Given the description of an element on the screen output the (x, y) to click on. 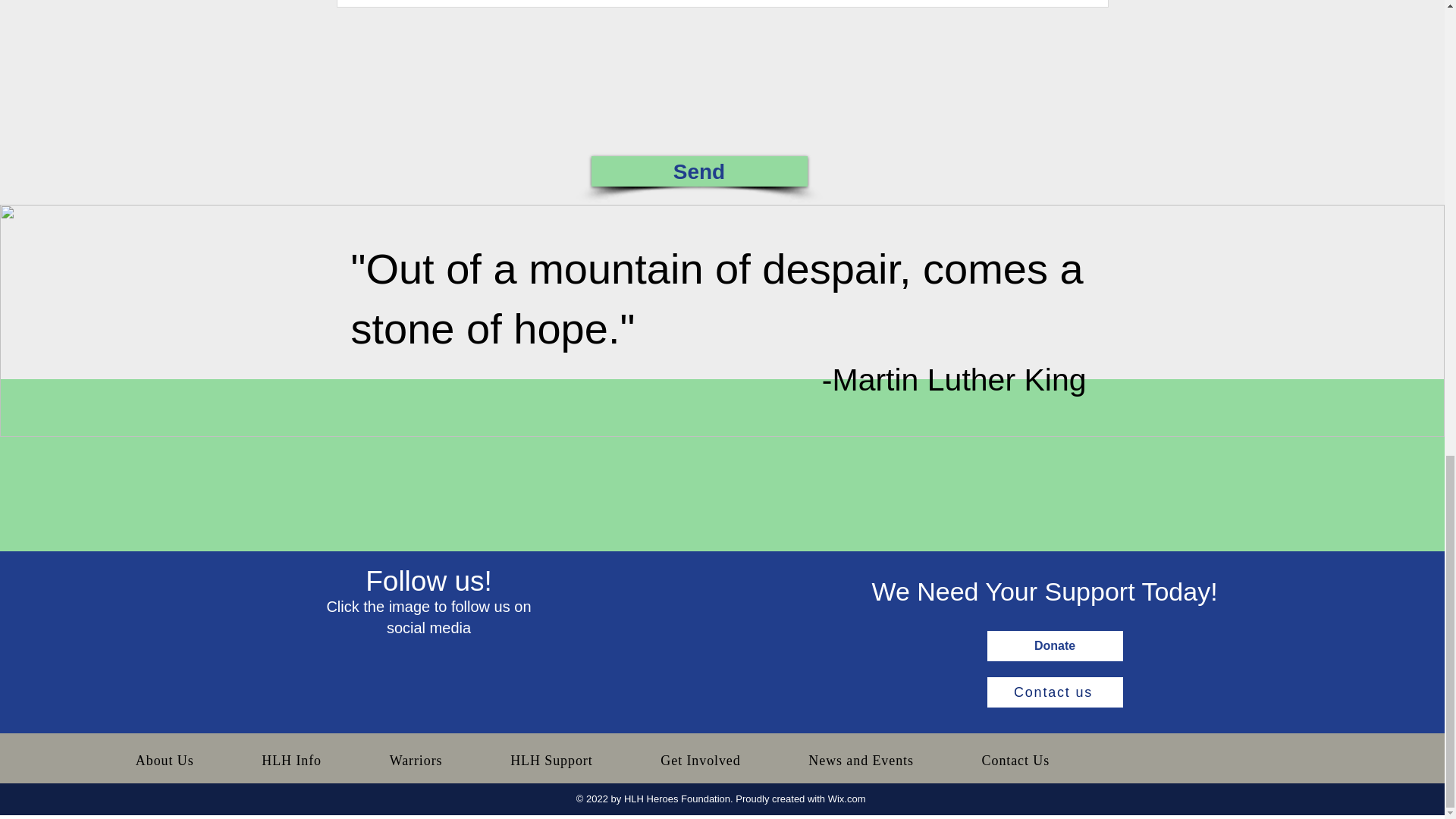
Wix.com (847, 798)
Contact us (1054, 692)
Contact Us (1015, 760)
Send (699, 171)
Warriors (415, 760)
Donate (1054, 645)
